Given the description of an element on the screen output the (x, y) to click on. 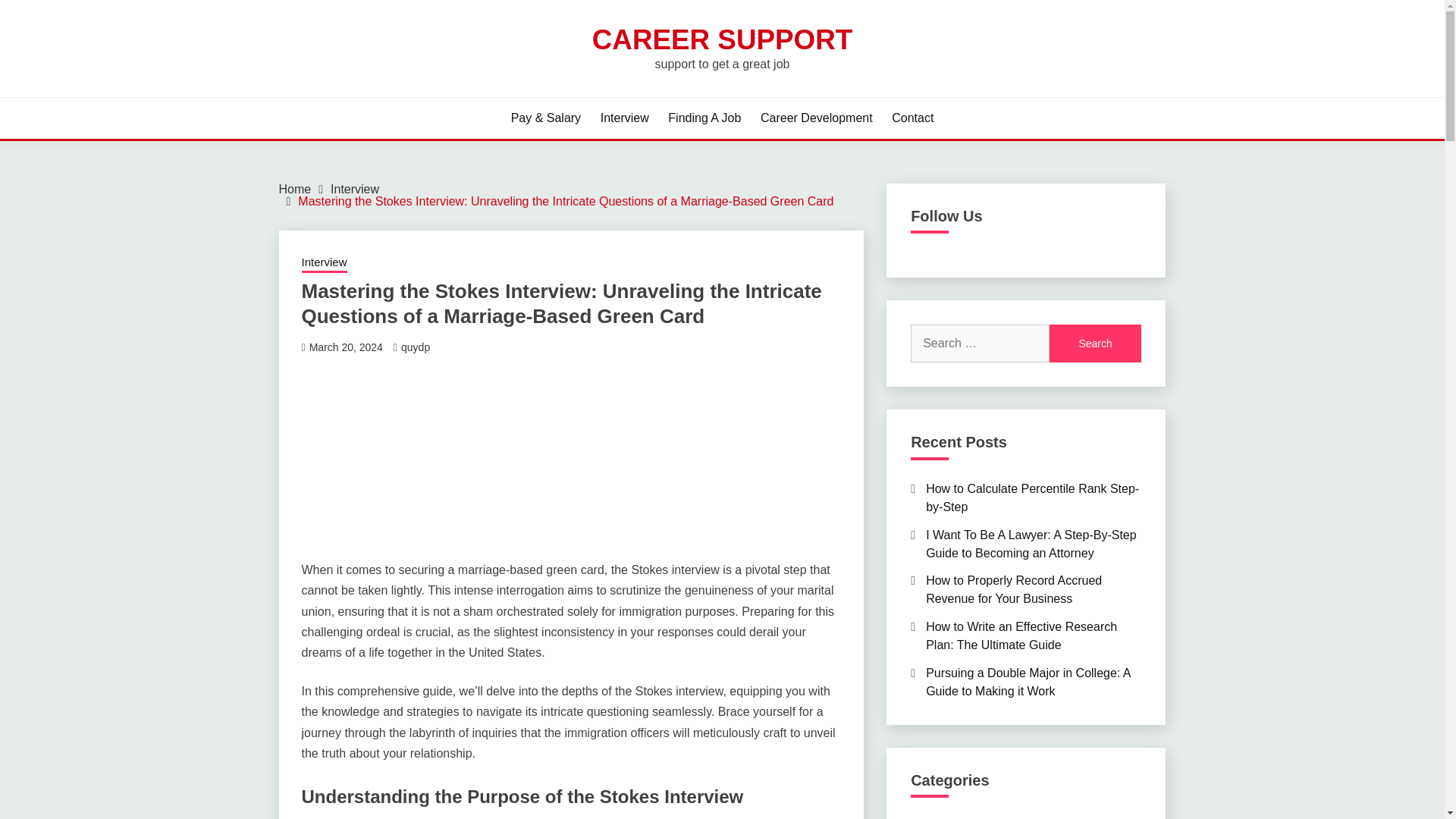
Home (295, 188)
Search (1095, 343)
March 20, 2024 (345, 346)
Contact (912, 117)
Career Development (816, 117)
Interview (324, 263)
quydp (415, 346)
Interview (354, 188)
Search (1095, 343)
Interview (624, 117)
Search (832, 18)
CAREER SUPPORT (721, 39)
Finding A Job (704, 117)
